Given the description of an element on the screen output the (x, y) to click on. 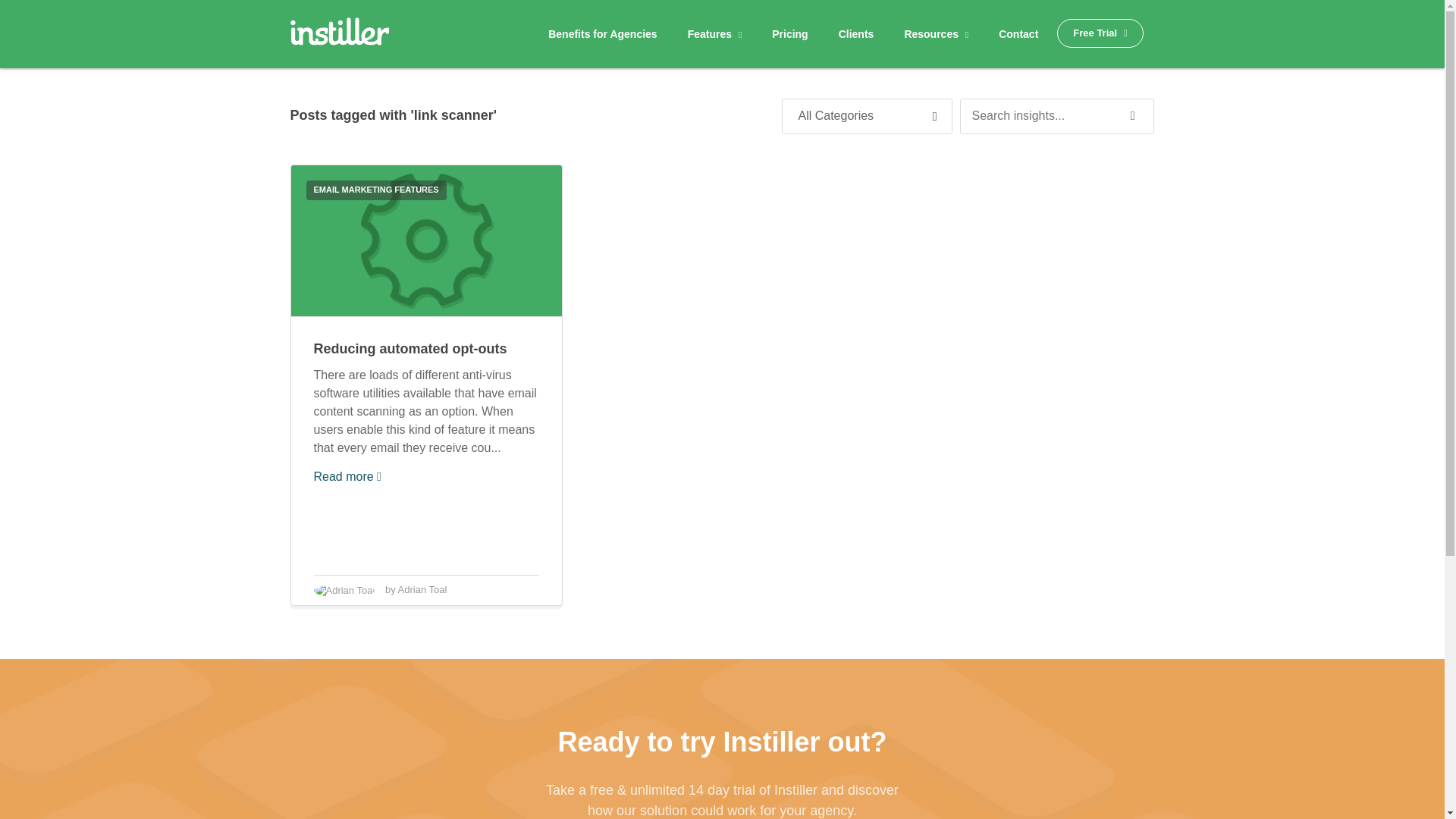
Features (715, 34)
Clients (856, 34)
Reducing automated opt-outs (410, 348)
Contact (1018, 34)
EMAIL MARKETING FEATURES (375, 189)
Read more (347, 476)
Adrian Toal (421, 589)
Pricing (789, 34)
White label email marketing for agencies (338, 36)
Benefits for Agencies (602, 34)
Resources (935, 34)
Free Trial (1099, 32)
